Given the description of an element on the screen output the (x, y) to click on. 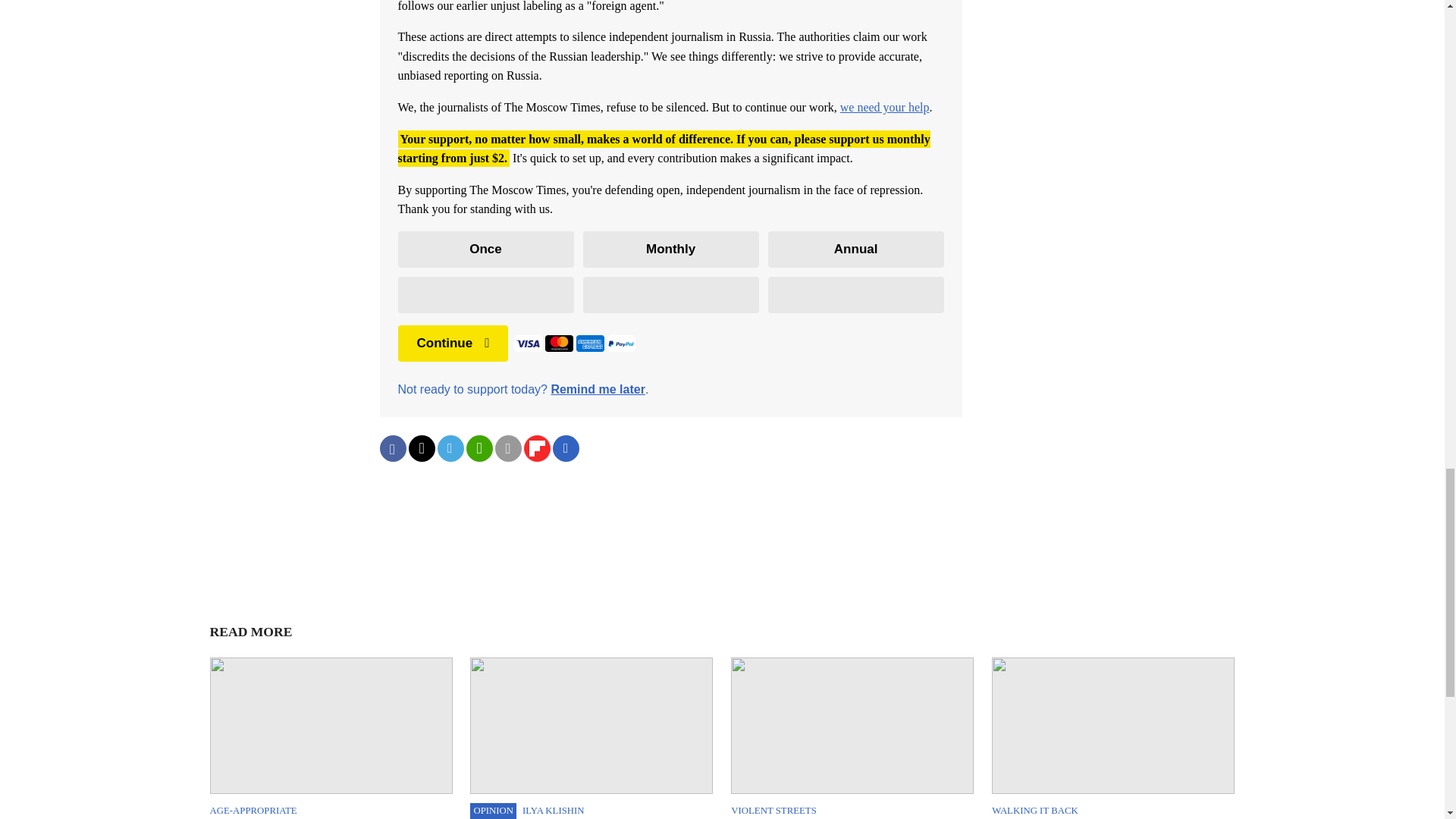
Share on Facebook (392, 447)
Share on Twitter (420, 447)
we need your help (885, 106)
Share on Telegram (449, 447)
Share on Flipboard (536, 447)
